Given the description of an element on the screen output the (x, y) to click on. 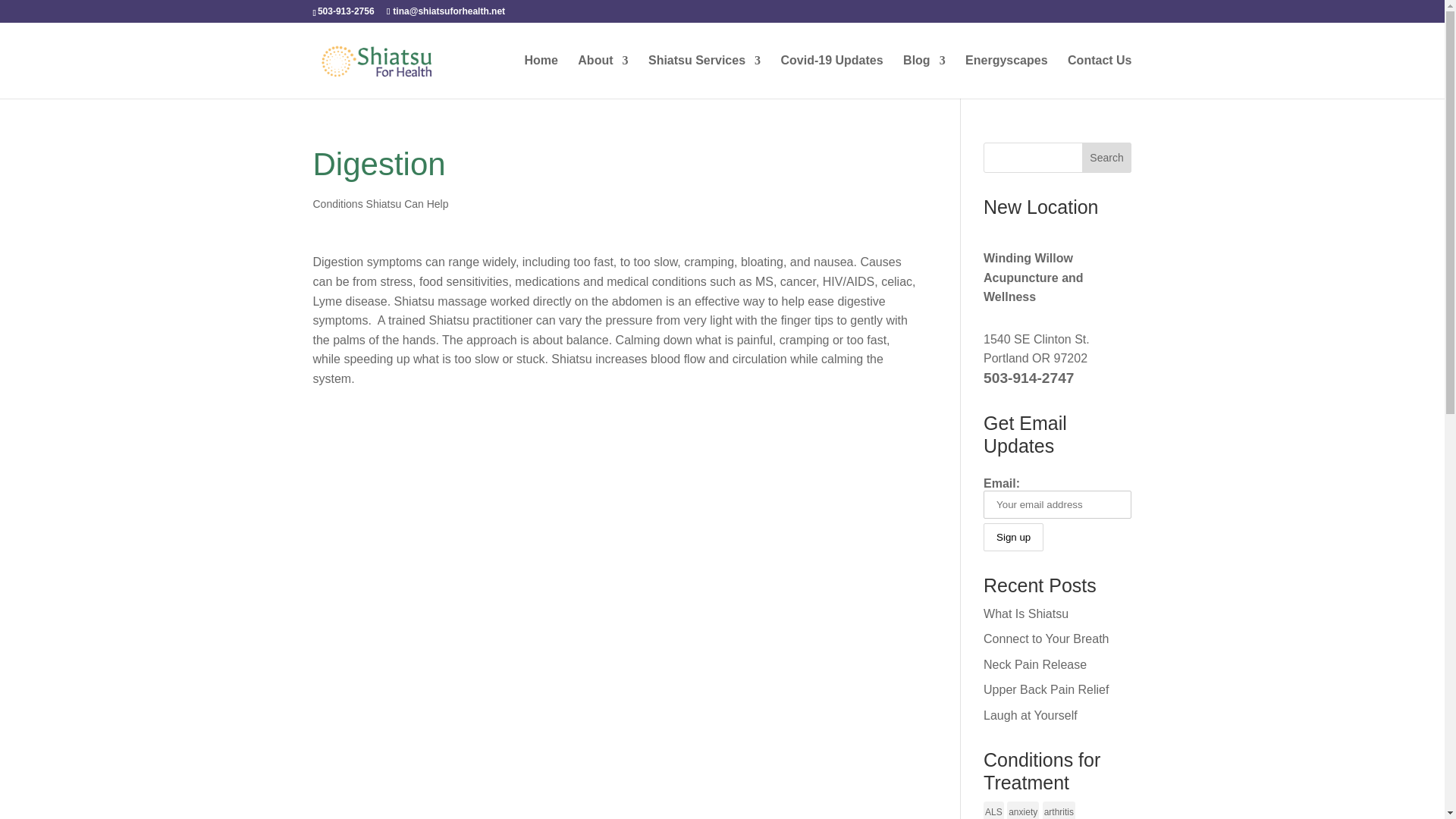
Blog (923, 76)
Search (1106, 157)
Covid-19 Updates (831, 76)
Sign up (1013, 537)
Search (1106, 157)
Connect to Your Breath (1046, 638)
Shiatsu Services (703, 76)
About (602, 76)
Upper Back Pain Relief (1046, 689)
Call Now (1029, 377)
